Given the description of an element on the screen output the (x, y) to click on. 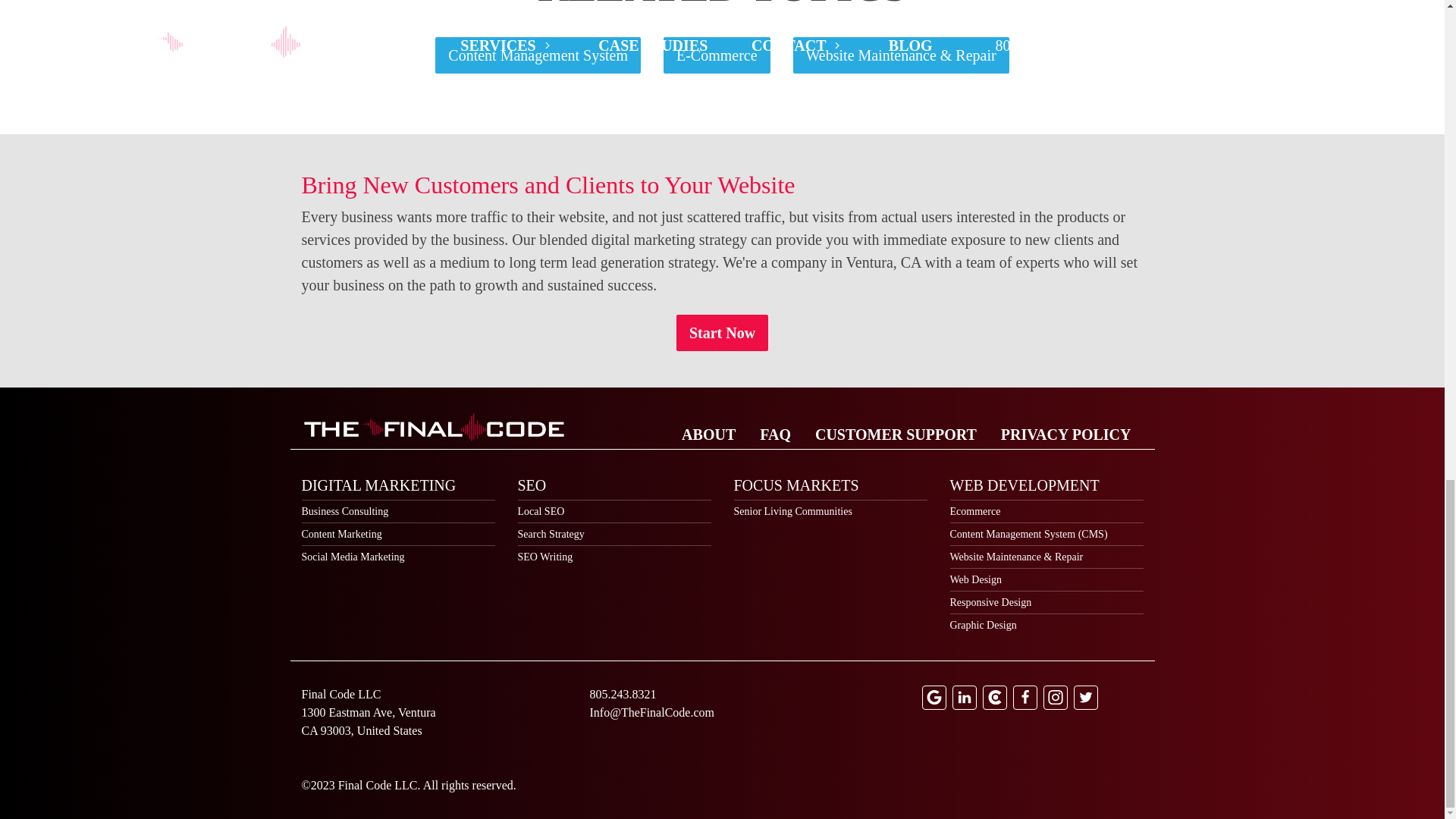
TheFinalCode Facebook (1024, 697)
Content Management System (537, 54)
eCommerce (716, 54)
Become a client (722, 332)
TheFinalCode Clutch (994, 697)
The Final Code LinkedIn (964, 697)
TheFinalCode Google (933, 697)
